Given the description of an element on the screen output the (x, y) to click on. 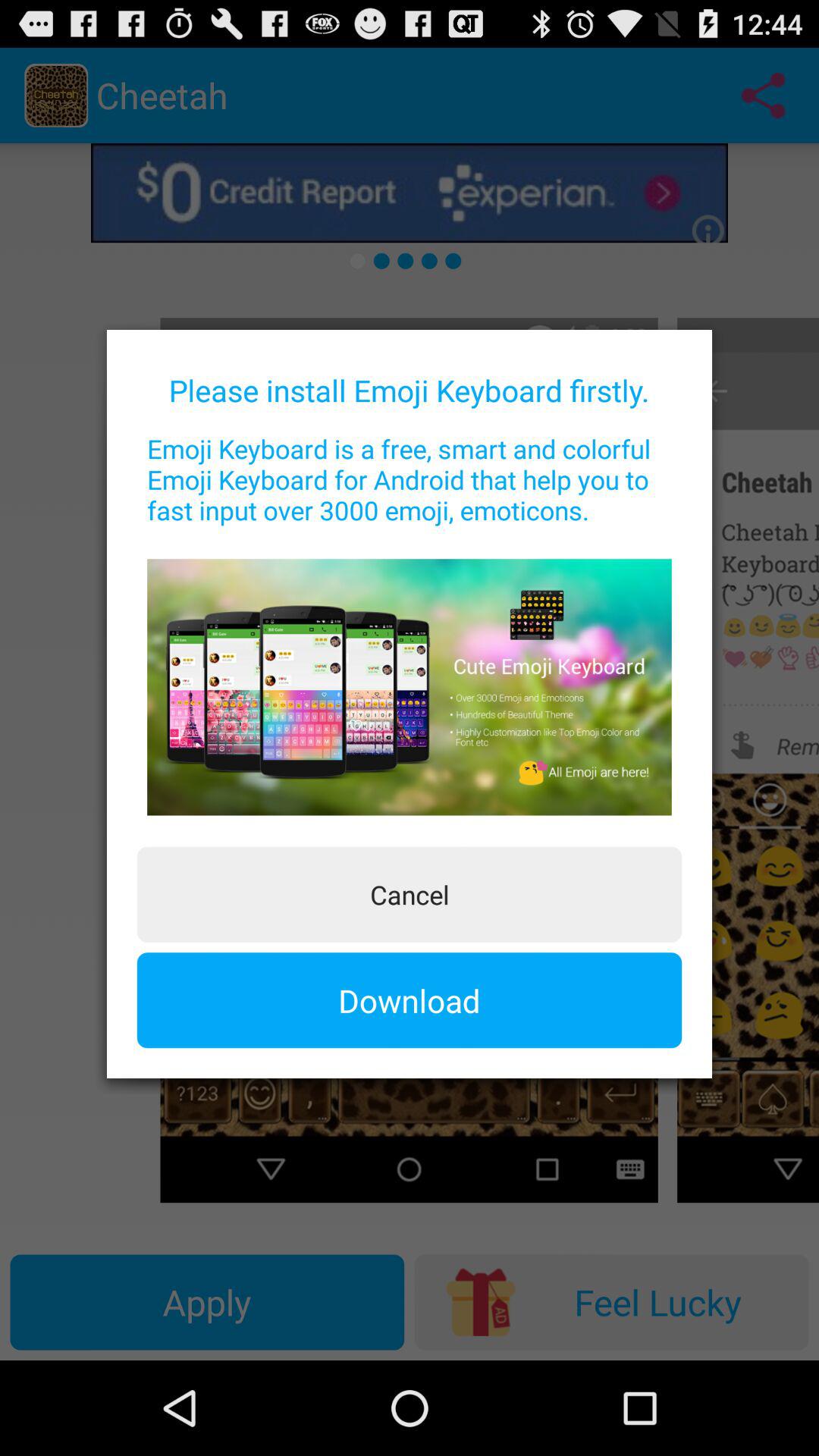
click item below cancel (409, 1000)
